Given the description of an element on the screen output the (x, y) to click on. 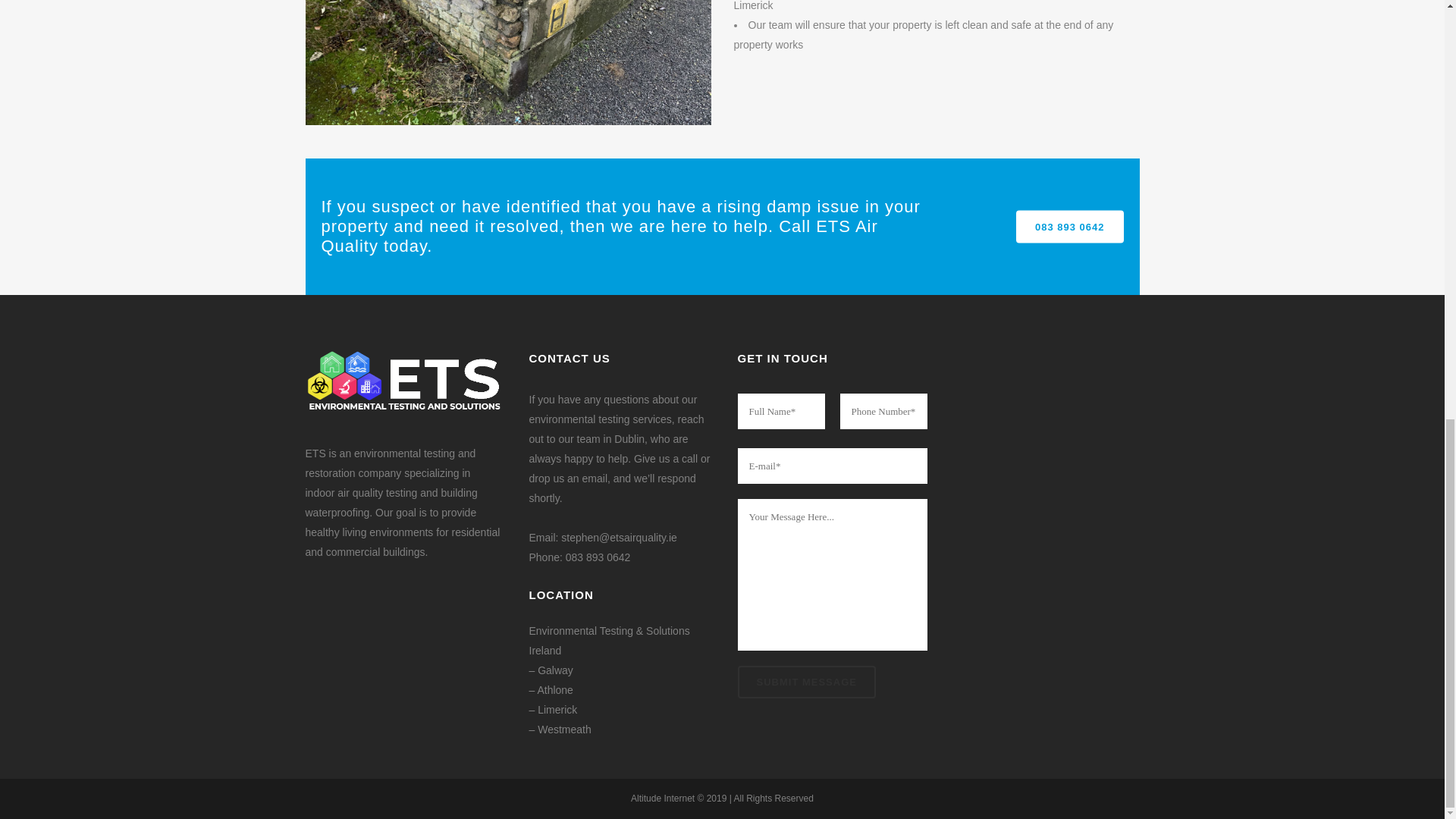
Submit Message (805, 681)
Submit Message (805, 681)
083 893 0642 (598, 557)
083 893 0642 (1070, 225)
rising-damp-800-500-min (507, 62)
